Given the description of an element on the screen output the (x, y) to click on. 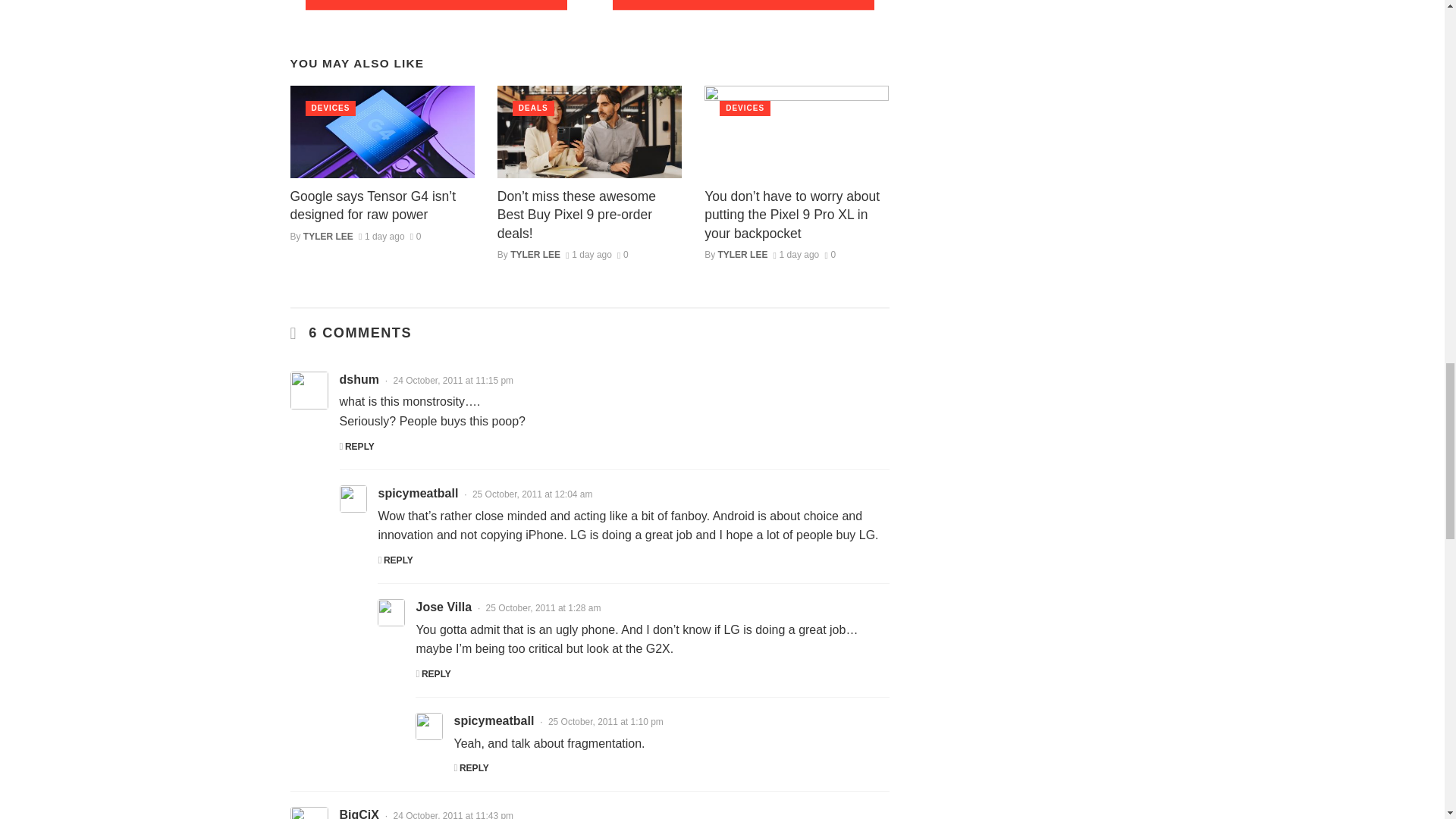
0 Comments (622, 254)
0 Comments (829, 254)
August 16, 2024 at 12:20 am (381, 235)
August 16, 2024 at 12:15 am (796, 254)
August 16, 2024 at 12:20 am (588, 254)
0 Comments (416, 235)
